Given the description of an element on the screen output the (x, y) to click on. 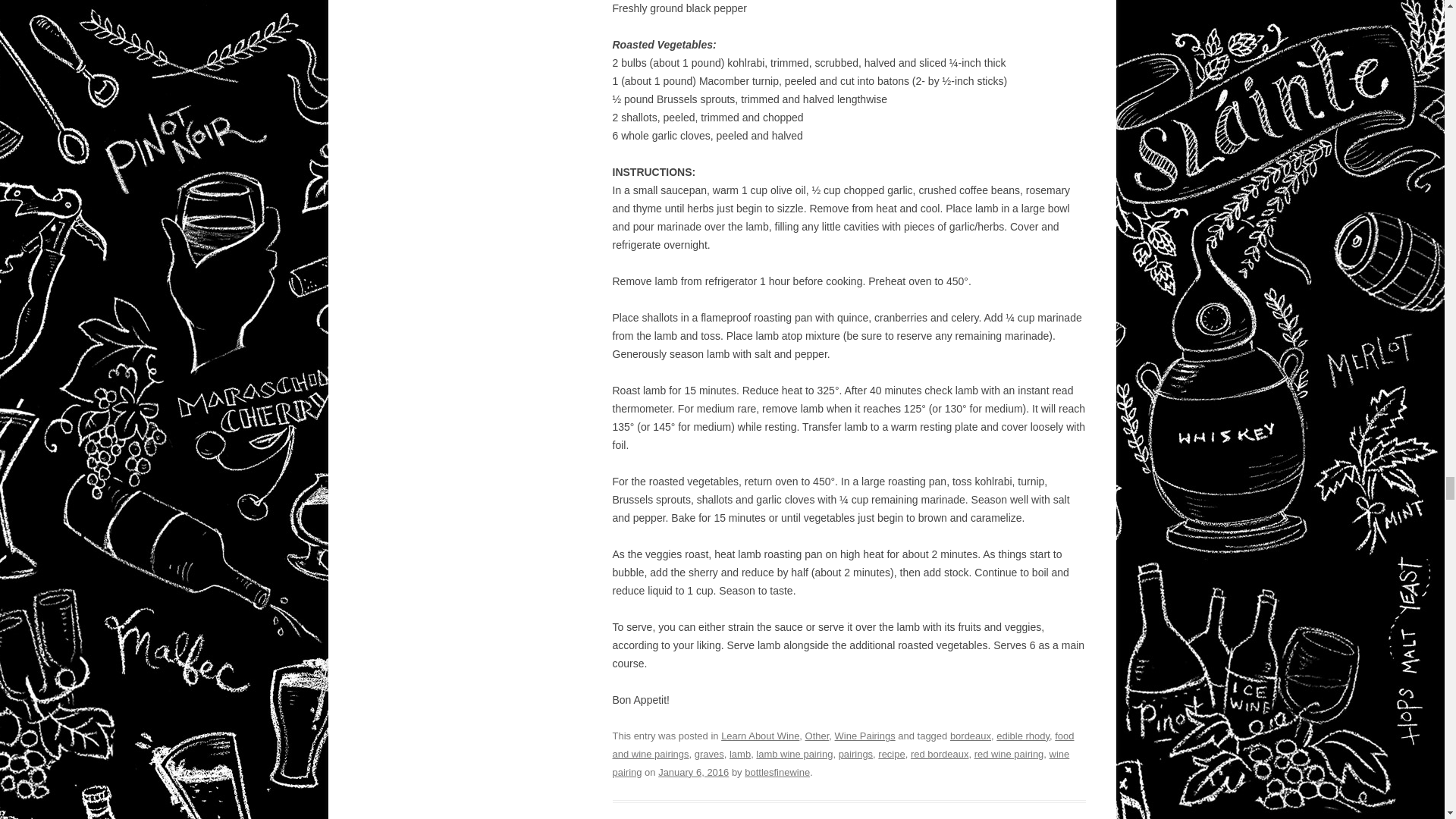
4:00 PM (693, 772)
View all posts by bottlesfinewine (776, 772)
